Given the description of an element on the screen output the (x, y) to click on. 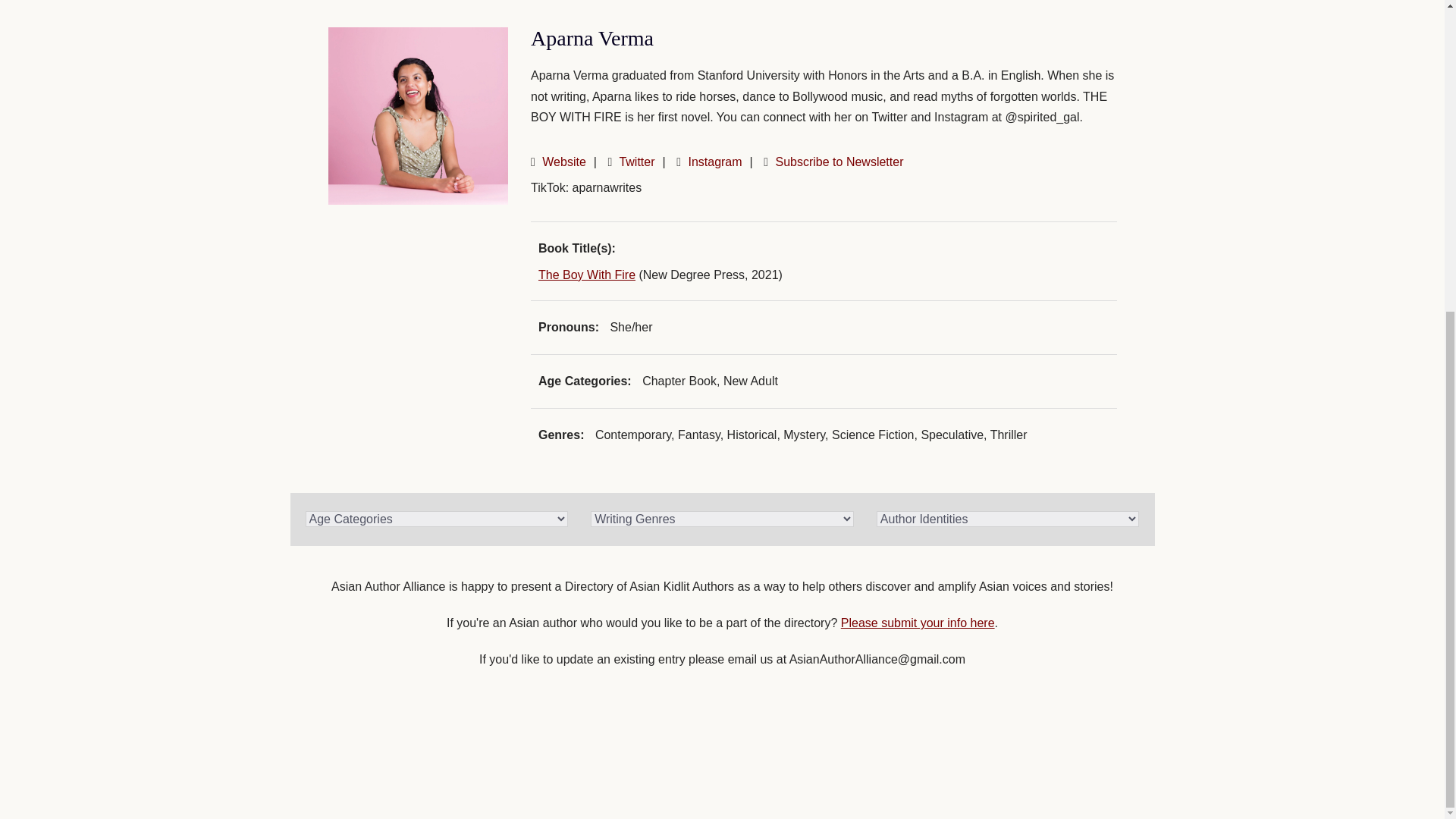
The Boy With Fire (586, 273)
Website (563, 161)
Twitter (635, 161)
Instagram (714, 161)
Please submit your info here (917, 622)
Subscribe to Newsletter (838, 161)
Aparna Verma (417, 115)
